Given the description of an element on the screen output the (x, y) to click on. 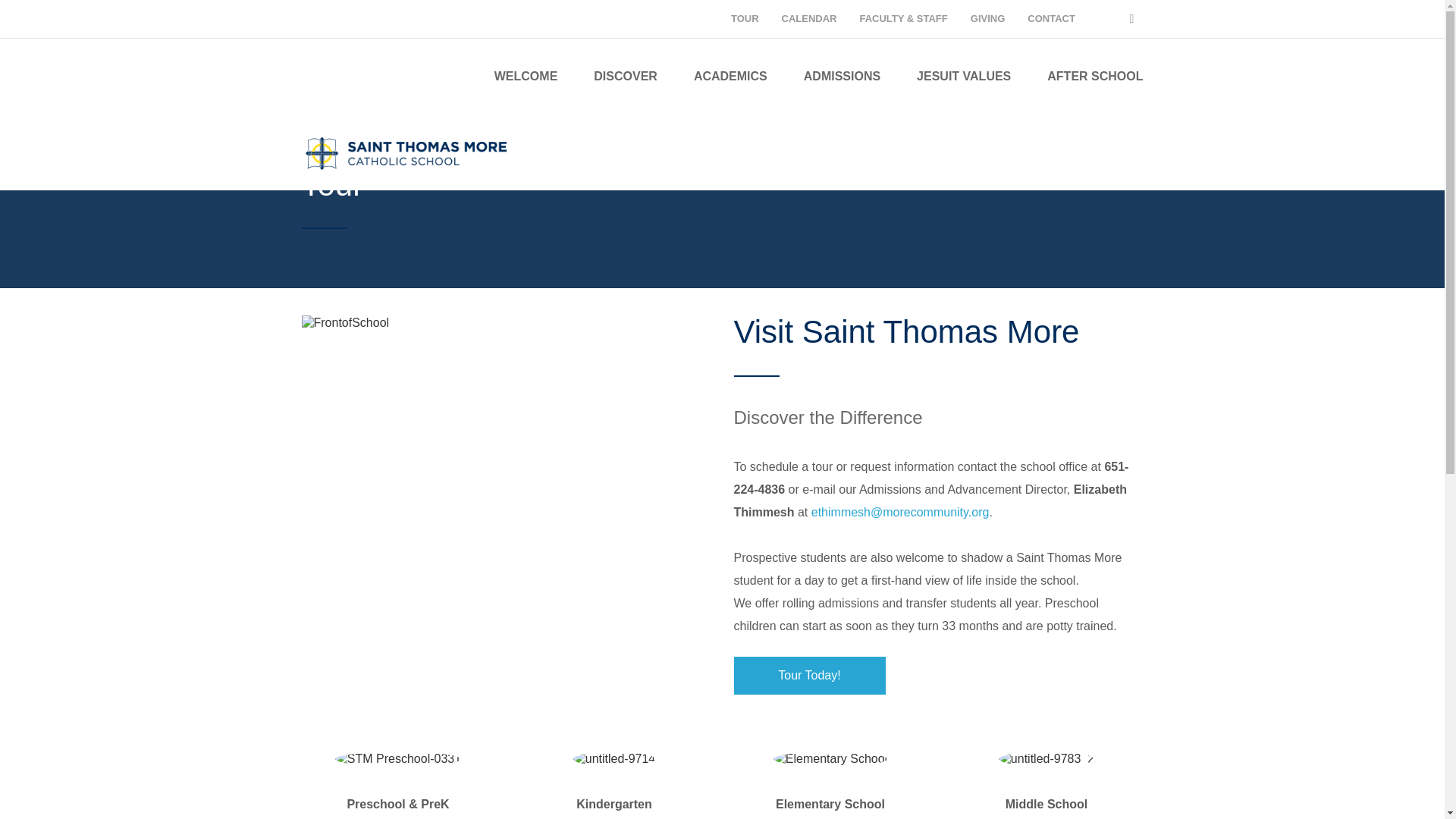
CALENDAR (809, 18)
Saint Thomas More Catholic School (406, 152)
JESUIT VALUES (963, 76)
AFTER SCHOOL (1094, 76)
GIVING (988, 18)
STM Preschool-0331 (397, 758)
CONTACT (1051, 18)
TOUR (744, 18)
ACADEMICS (730, 76)
untitled-9714 (614, 758)
FrontofSchool (345, 322)
ADMISSIONS (841, 76)
Tour Today! (809, 675)
